Given the description of an element on the screen output the (x, y) to click on. 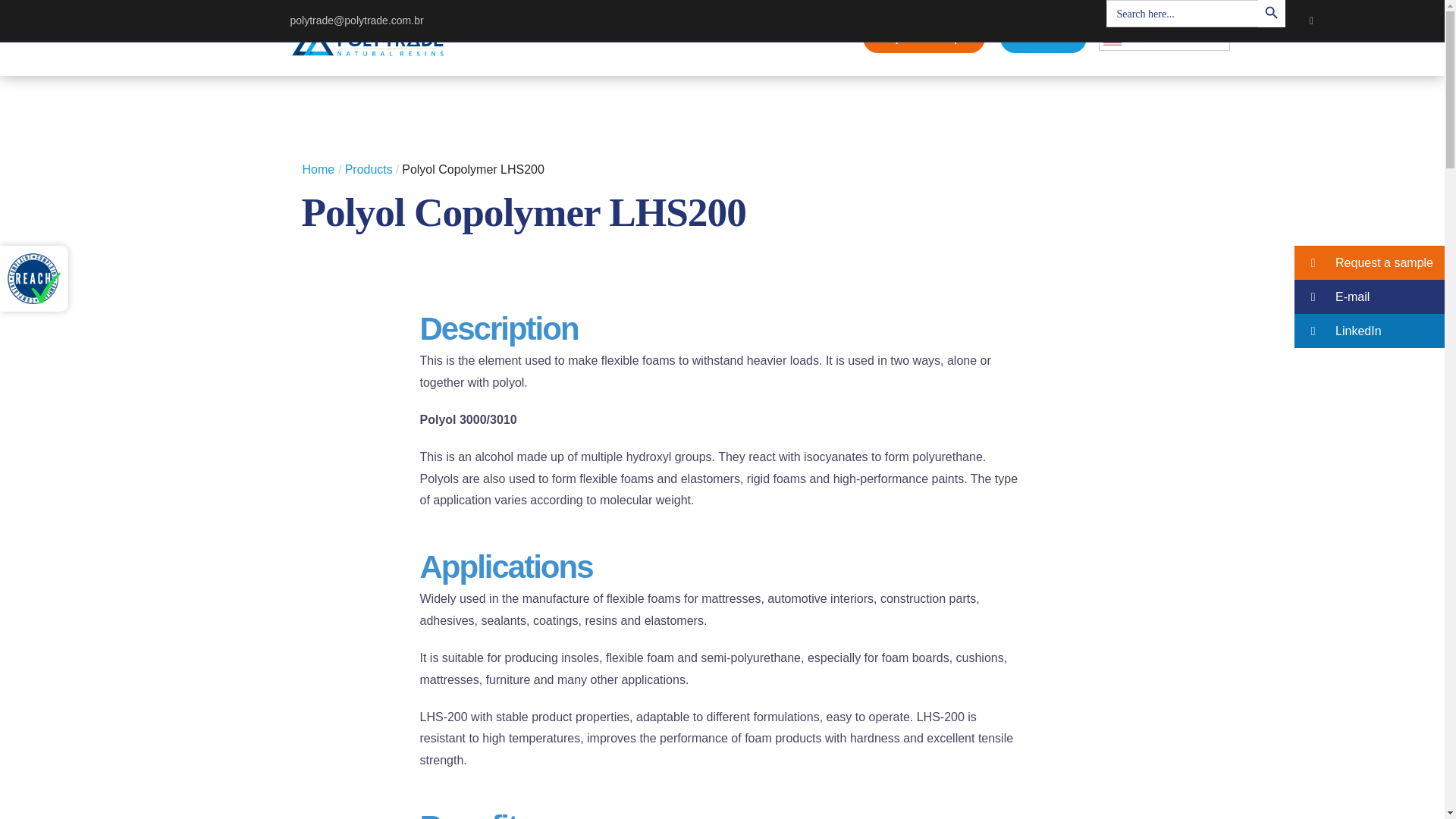
About us (632, 37)
Products (369, 169)
Request a Sample (924, 37)
Contact Us (1043, 37)
Products (700, 37)
Market Solutions (797, 37)
Polyol Copolymer LHS200 (472, 169)
Polytrade (366, 36)
LinkedIn (1310, 20)
Home (579, 37)
